Given the description of an element on the screen output the (x, y) to click on. 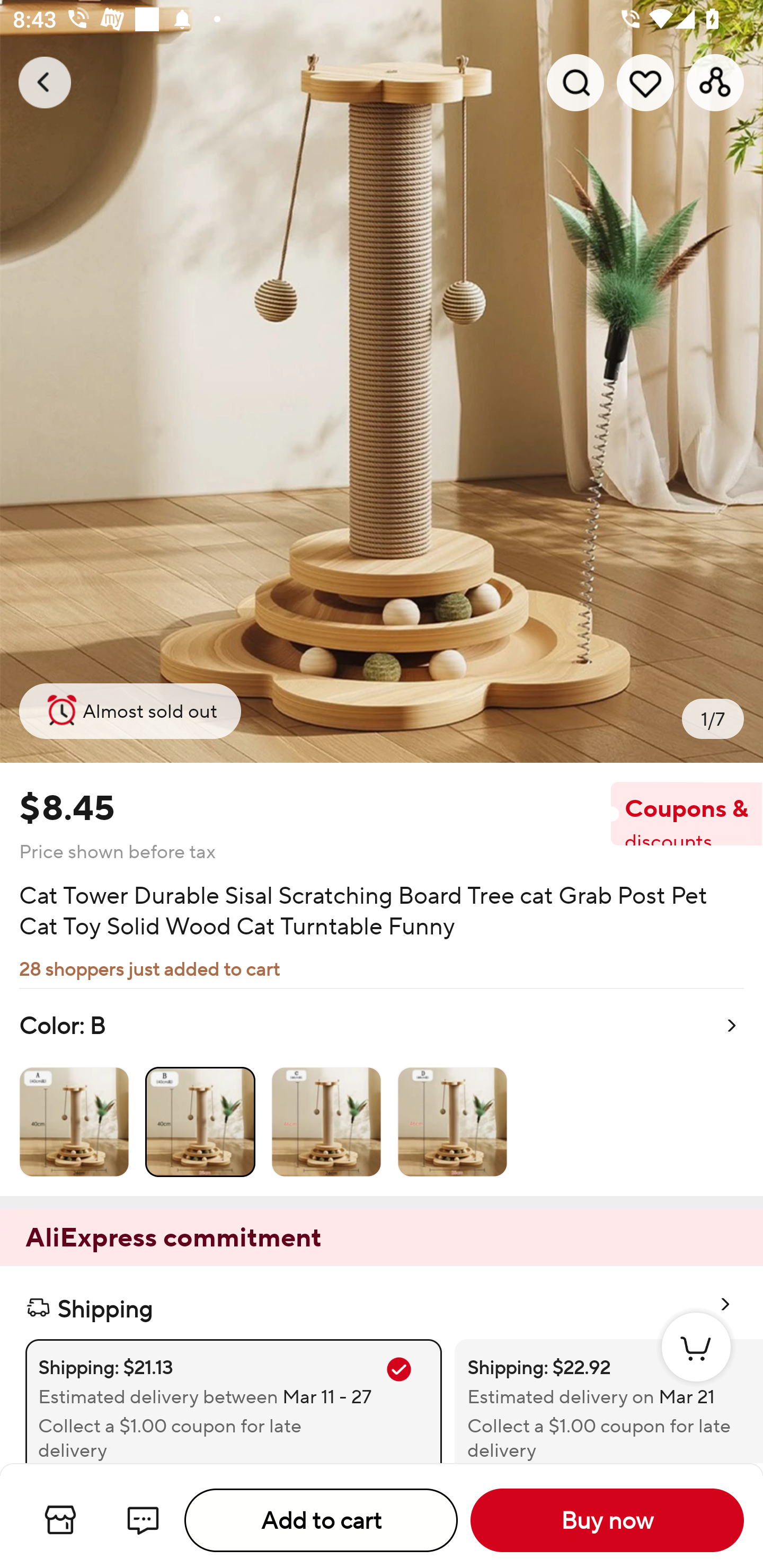
Navigate up (44, 82)
Color: B  (381, 1092)
Add to cart (320, 1520)
Buy now (606, 1520)
